Given the description of an element on the screen output the (x, y) to click on. 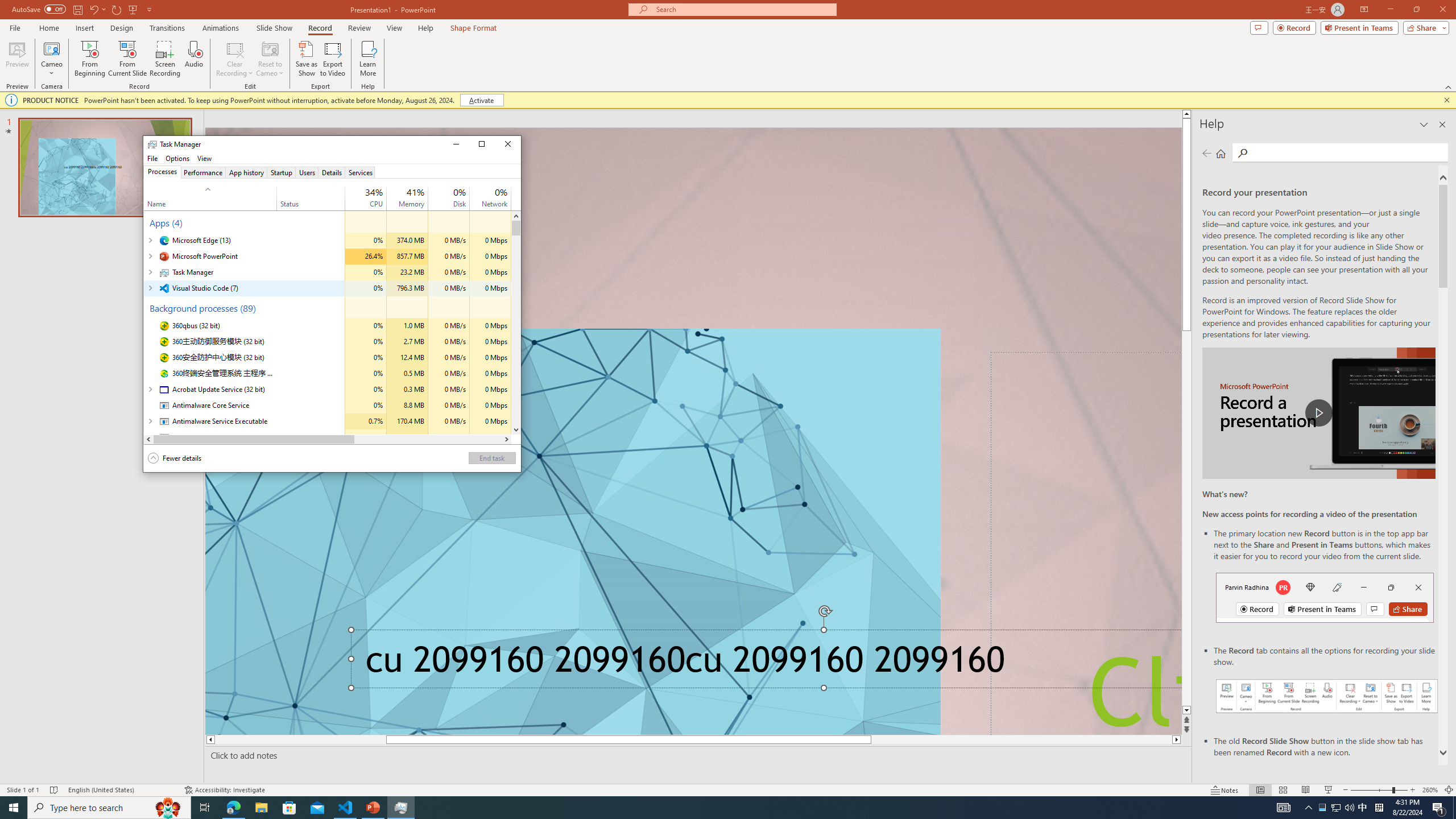
Disk (449, 437)
End task (491, 457)
Vertical (516, 322)
Users (306, 171)
Performance (202, 171)
Horizontal (327, 438)
Memory (407, 437)
CPU (366, 437)
AutomationID: TmColStatusText (278, 437)
Page right (427, 438)
1% (459, 191)
File (151, 158)
